Given the description of an element on the screen output the (x, y) to click on. 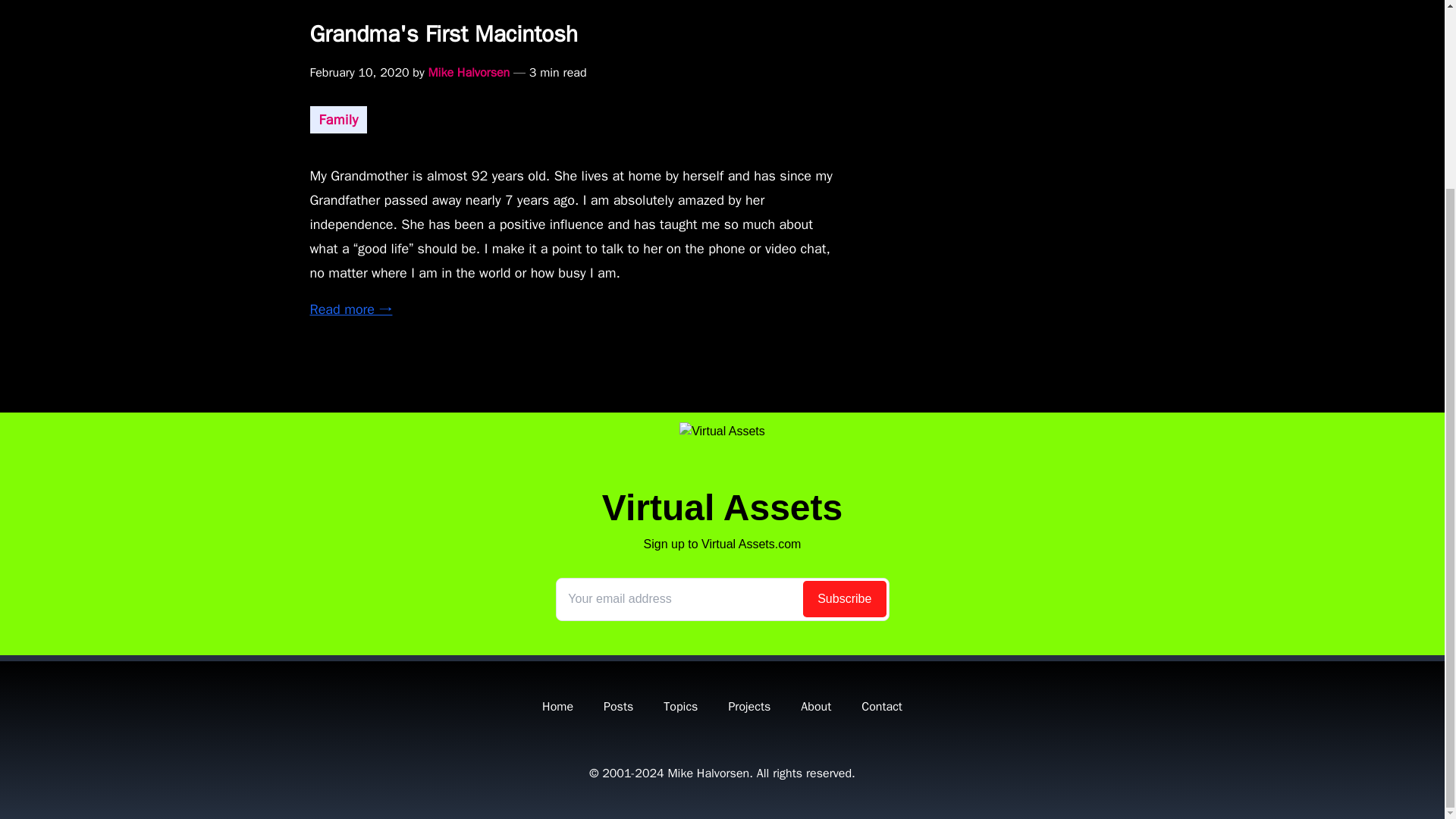
Topics (680, 706)
Posts (618, 706)
Home (557, 706)
About (815, 706)
Family (338, 119)
Projects (749, 706)
Mike Halvorsen (468, 72)
Contact (881, 706)
Grandma's First Macintosh (721, 34)
Mike Halvorsen (707, 773)
